Given the description of an element on the screen output the (x, y) to click on. 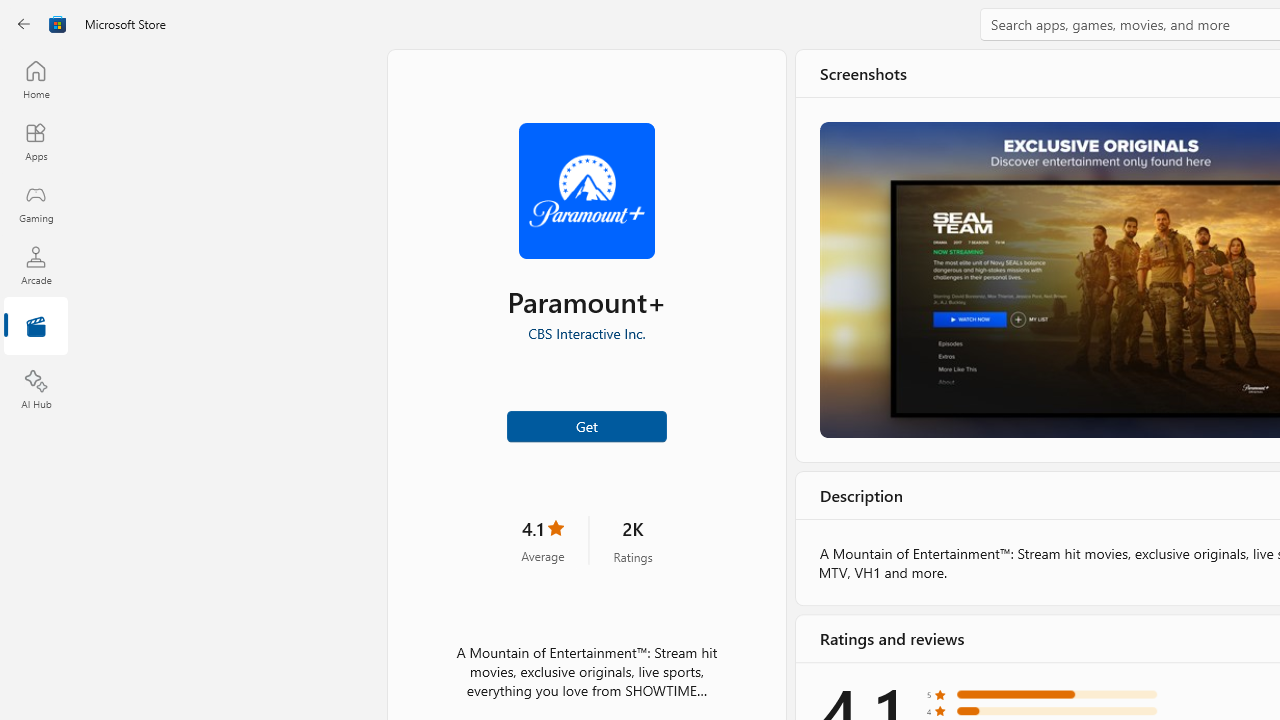
Get (586, 424)
CBS Interactive Inc. (586, 333)
Back (24, 24)
4.1 stars. Click to skip to ratings and reviews (542, 539)
